Given the description of an element on the screen output the (x, y) to click on. 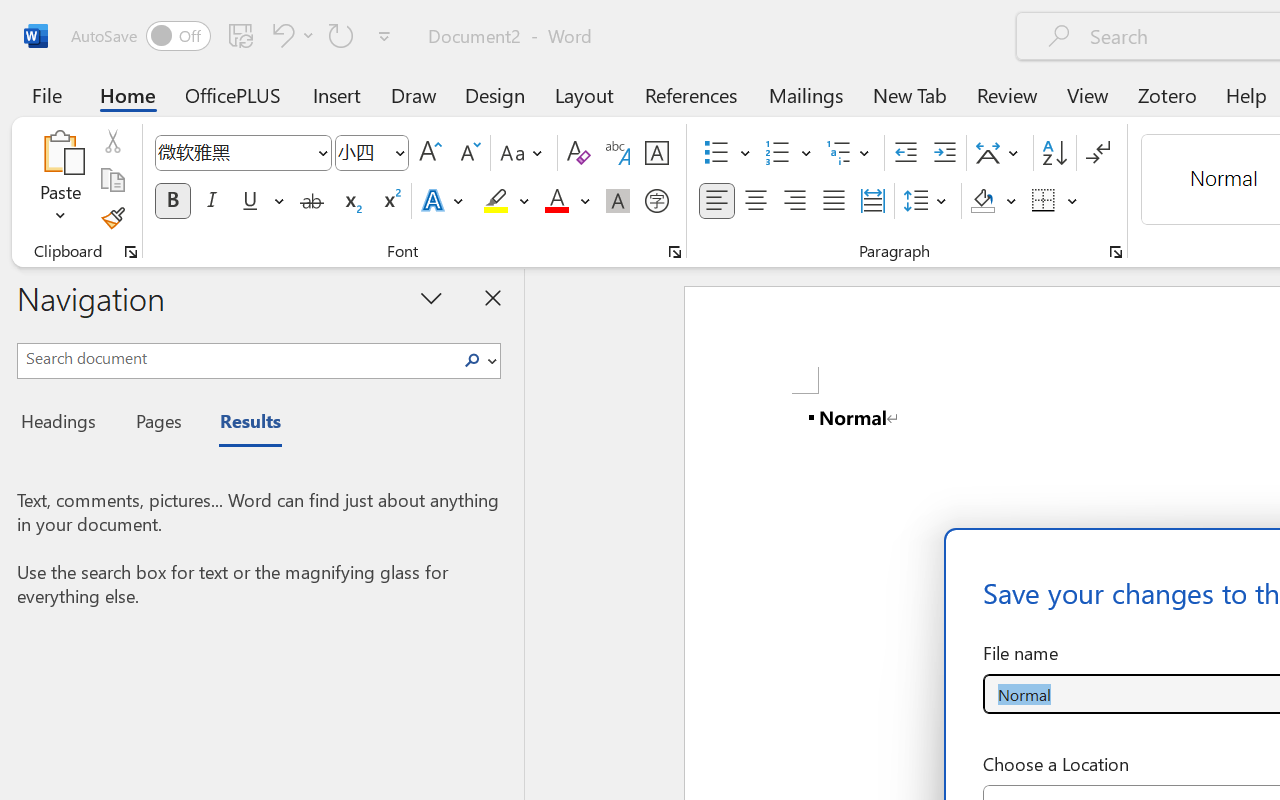
More Options (1073, 201)
Font... (675, 252)
Bullets (716, 153)
Font (242, 153)
Insert (337, 94)
Clear Formatting (578, 153)
Bold (172, 201)
Home (127, 94)
AutoSave (140, 35)
Text Highlight Color Yellow (495, 201)
Search (471, 360)
Font (234, 152)
Font Size (362, 152)
Quick Access Toolbar (233, 36)
Office Clipboard... (131, 252)
